Given the description of an element on the screen output the (x, y) to click on. 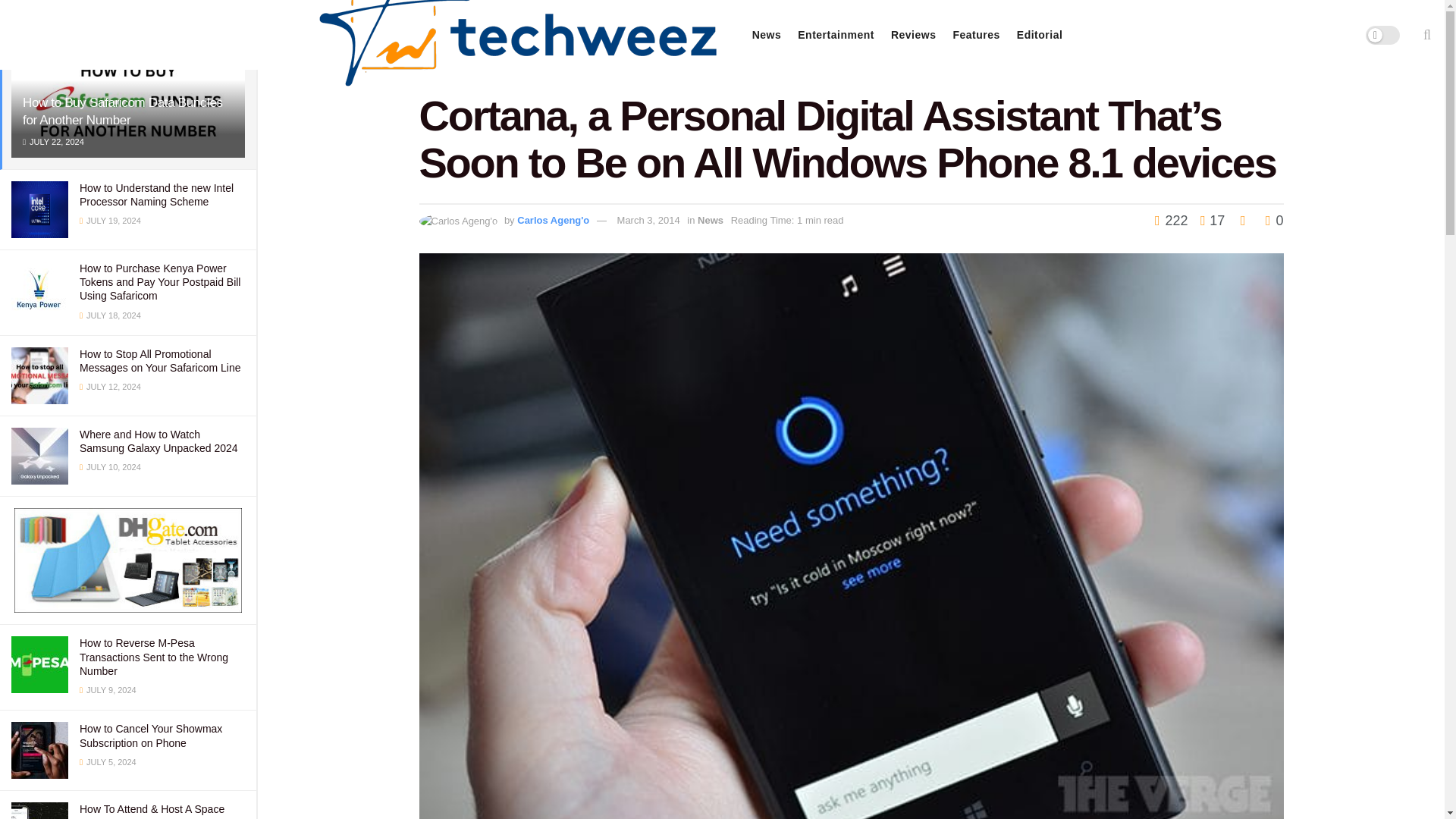
News (766, 34)
Where and How to Watch Samsung Galaxy Unpacked 2024 (159, 441)
Features (975, 34)
DHgate Tablet Cases deals (127, 559)
How to Buy Safaricom Data Bundles for Another Number (122, 111)
How to Understand the new Intel Processor Naming Scheme (156, 194)
How to Stop All Promotional Messages on Your Safaricom Line (160, 360)
How to Cancel Your Showmax Subscription on Phone (151, 735)
Entertainment (836, 34)
Editorial (1039, 34)
How to Reverse M-Pesa Transactions Sent to the Wrong Number (154, 656)
Reviews (913, 34)
